Given the description of an element on the screen output the (x, y) to click on. 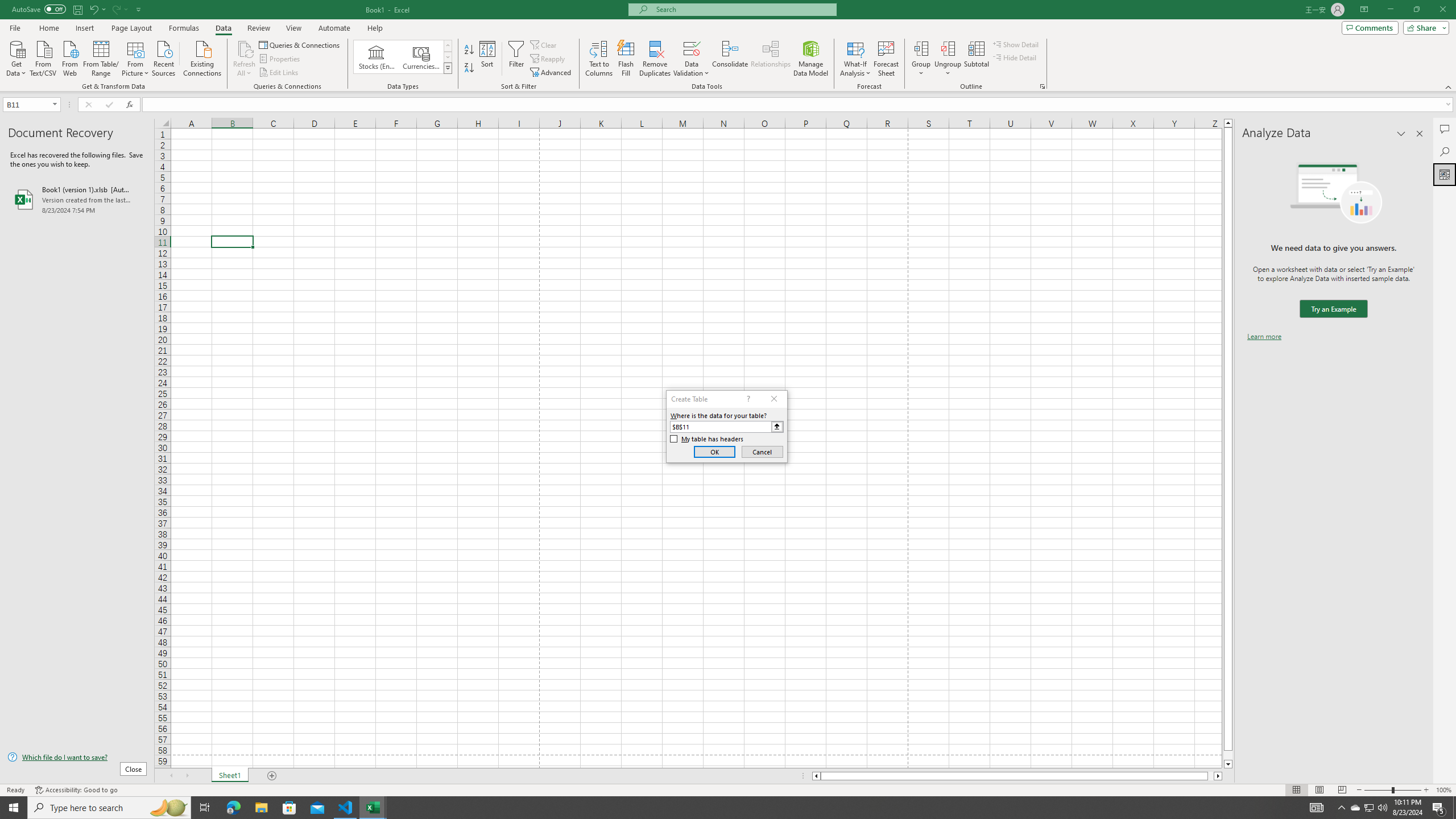
Edit Links (279, 72)
We need data to give you answers. Try an Example (1333, 308)
Forecast Sheet (885, 58)
Group and Outline Settings (1042, 85)
From Web (69, 57)
From Table/Range (100, 57)
Remove Duplicates (654, 58)
